Given the description of an element on the screen output the (x, y) to click on. 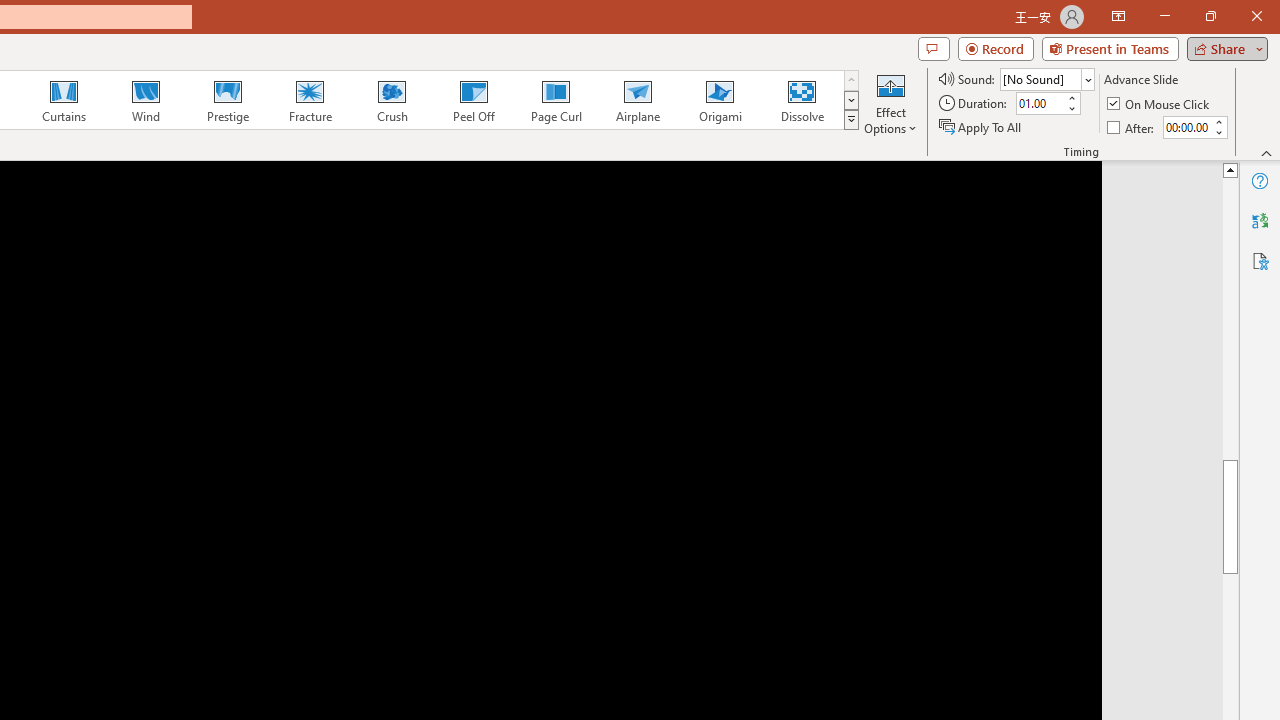
Crush (391, 100)
Apply To All (981, 126)
Sound (1046, 78)
Effect Options (890, 102)
Fracture (309, 100)
Origami (719, 100)
Page Curl (555, 100)
On Mouse Click (1159, 103)
Airplane (637, 100)
